Given the description of an element on the screen output the (x, y) to click on. 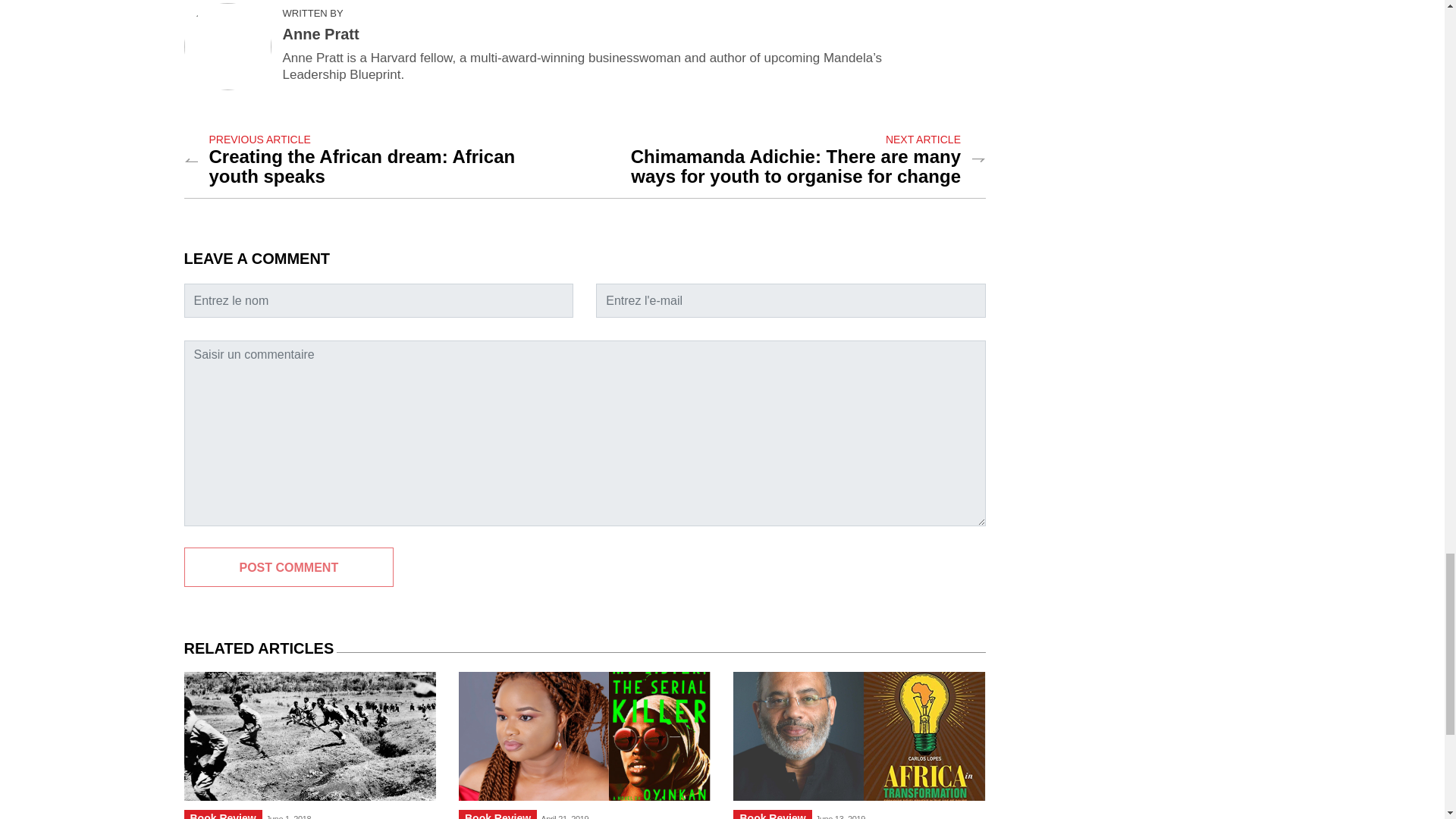
Post Comment (288, 567)
